Given the description of an element on the screen output the (x, y) to click on. 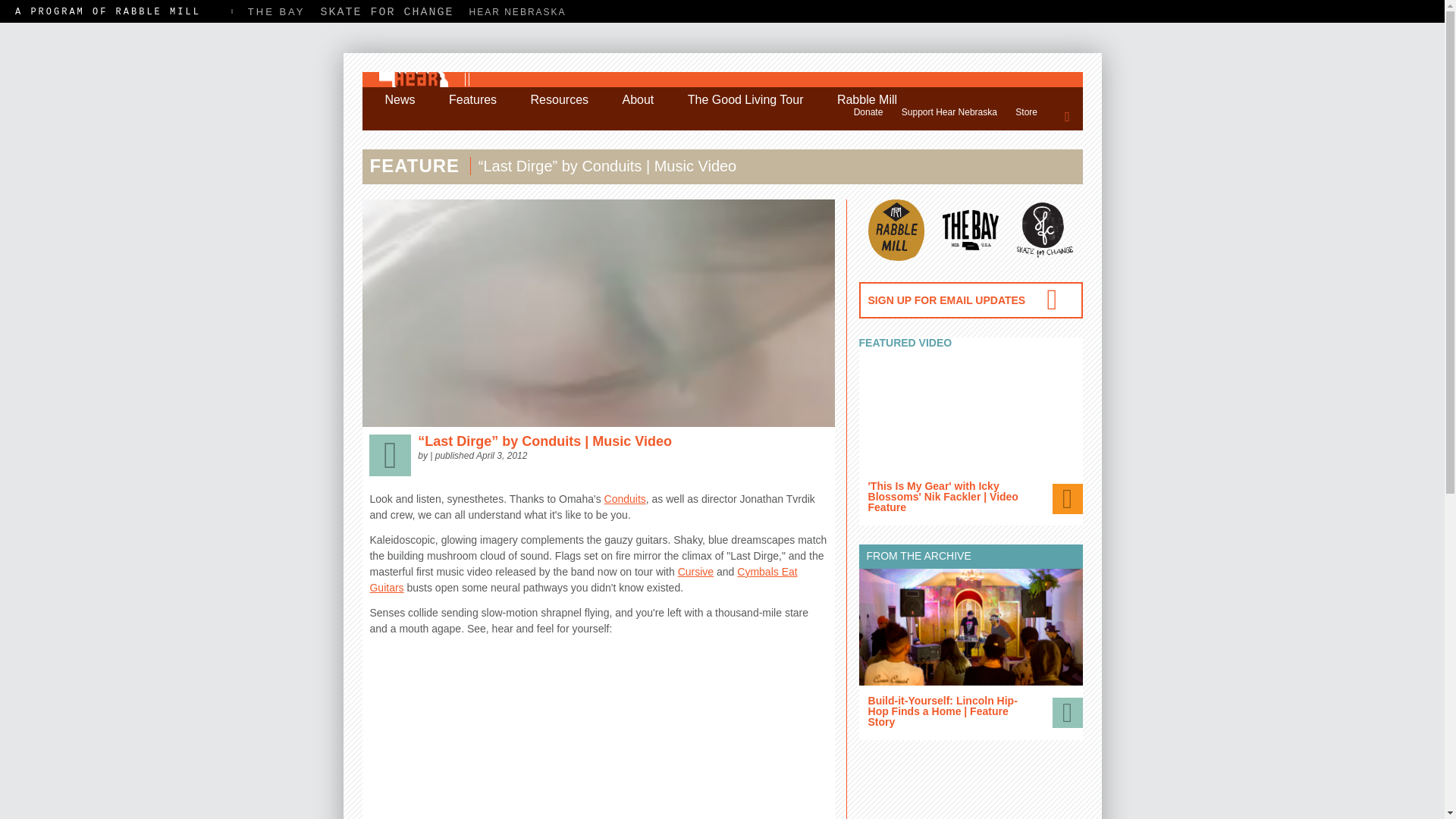
Cursive (695, 571)
A PROGRAM OF RABBLE MILL (107, 11)
Donate (868, 112)
THE BAY (276, 11)
About (637, 100)
The Good Living Tour (745, 100)
Support Hear Nebraska (948, 112)
Store (1026, 112)
Support (868, 112)
